Given the description of an element on the screen output the (x, y) to click on. 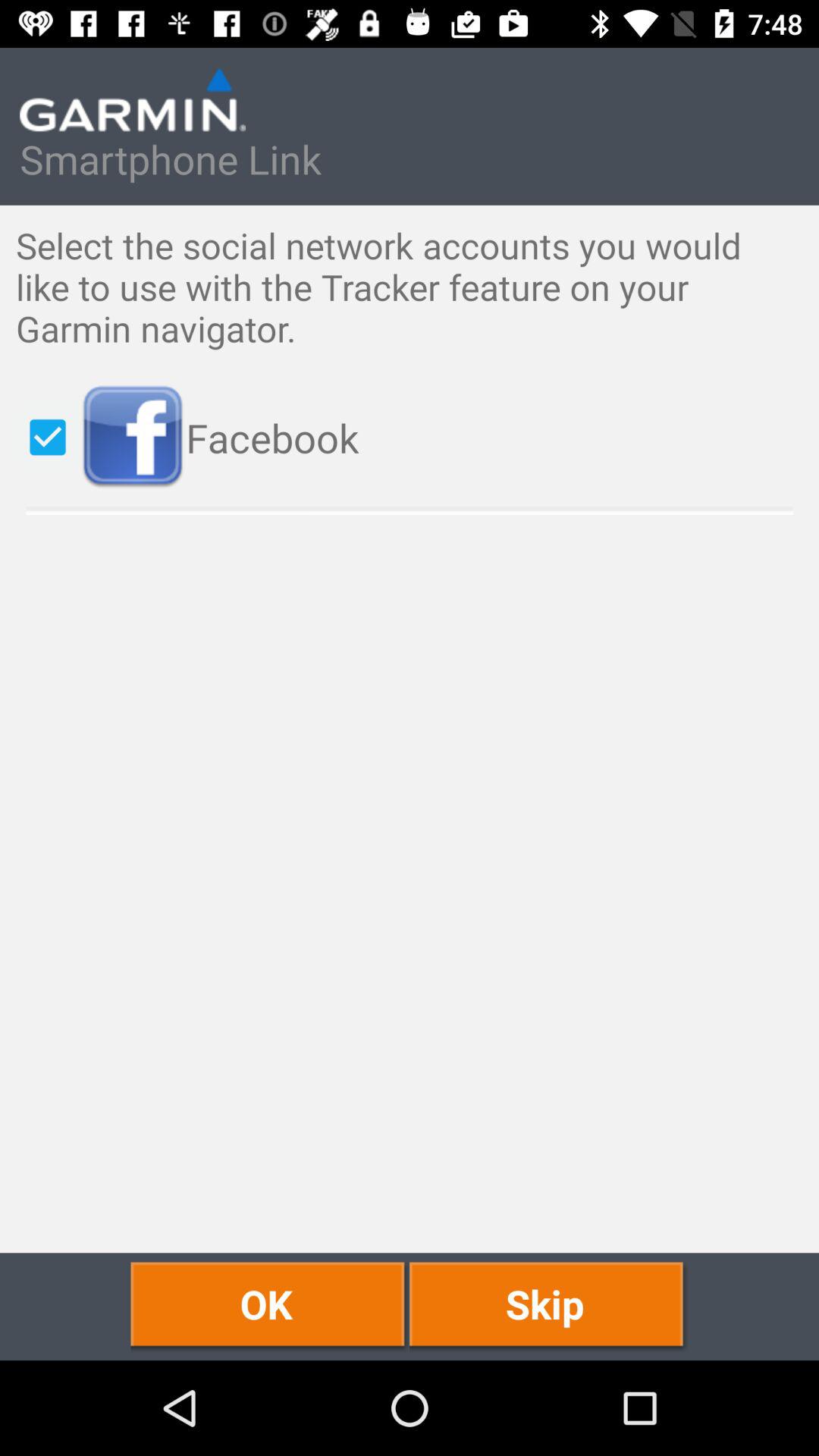
swipe to skip item (548, 1306)
